Given the description of an element on the screen output the (x, y) to click on. 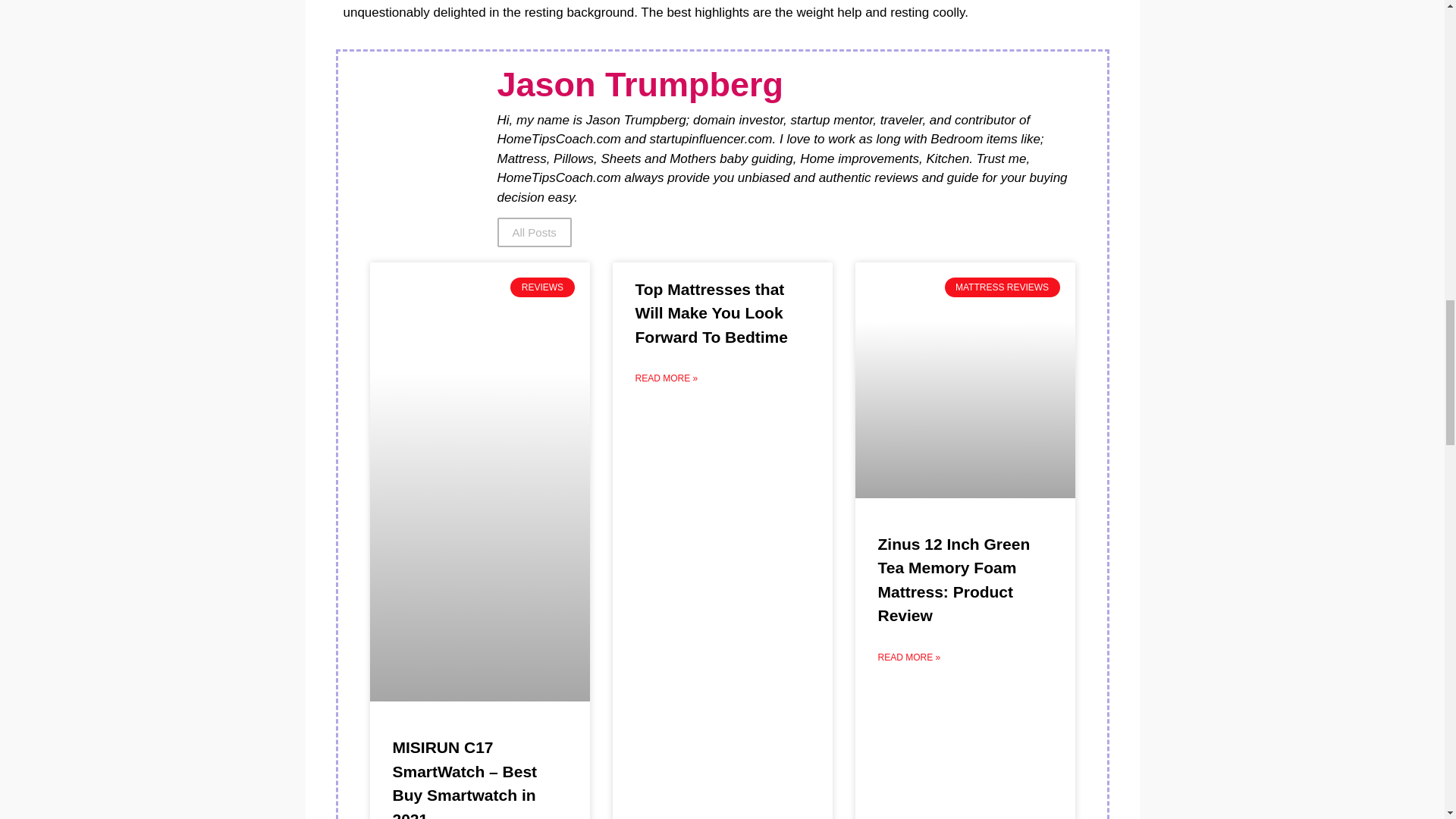
Zinus 12 Inch Green Tea Memory Foam Mattress: Product Review (953, 579)
Top Mattresses that Will Make You Look Forward To Bedtime (710, 312)
All Posts (534, 232)
